Given the description of an element on the screen output the (x, y) to click on. 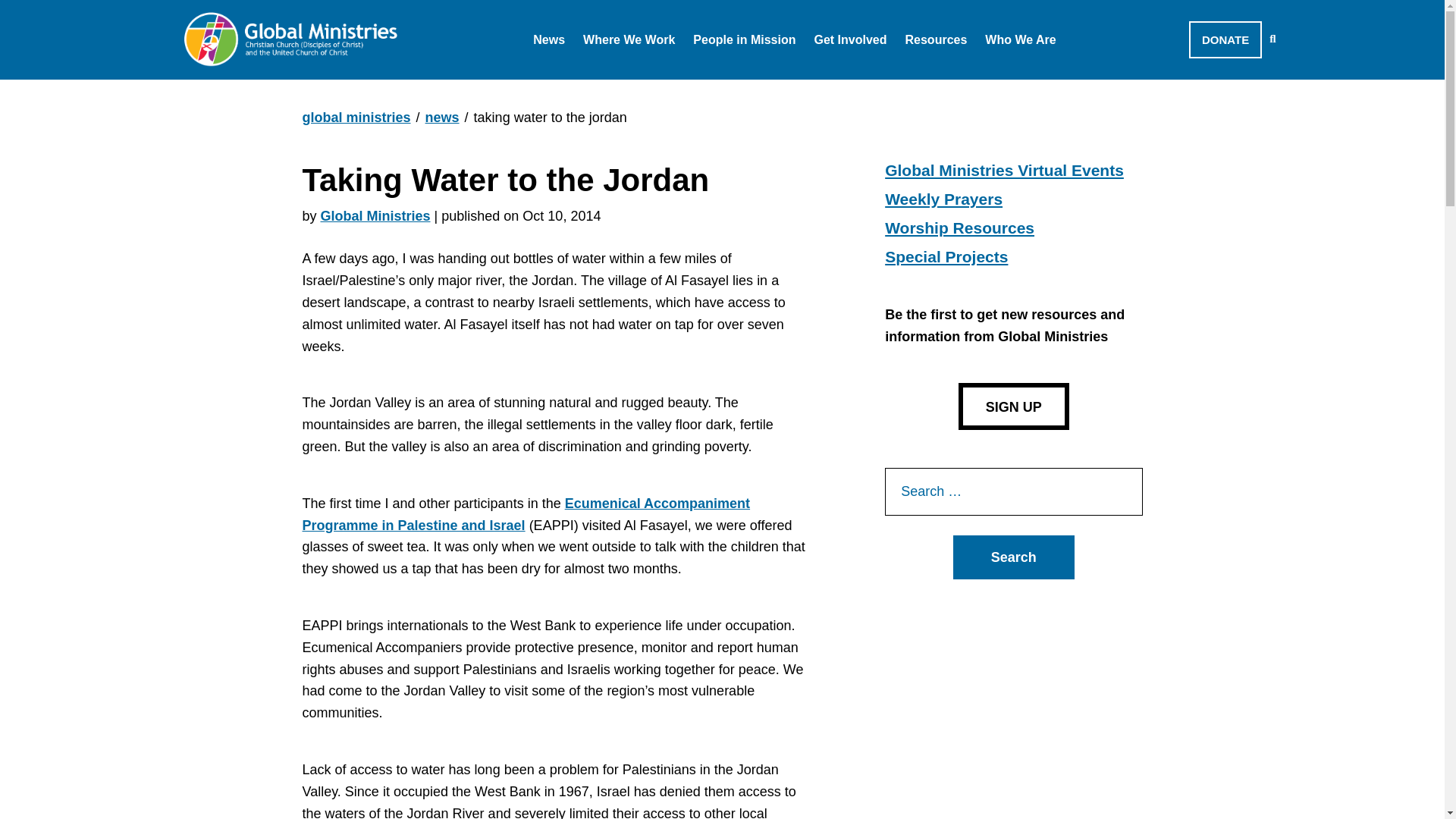
Posts by Global Ministries (375, 215)
Sign Up (1013, 406)
Search (1013, 557)
Go to News. (442, 117)
Search (1013, 557)
Go to Global Ministries. (355, 117)
